Given the description of an element on the screen output the (x, y) to click on. 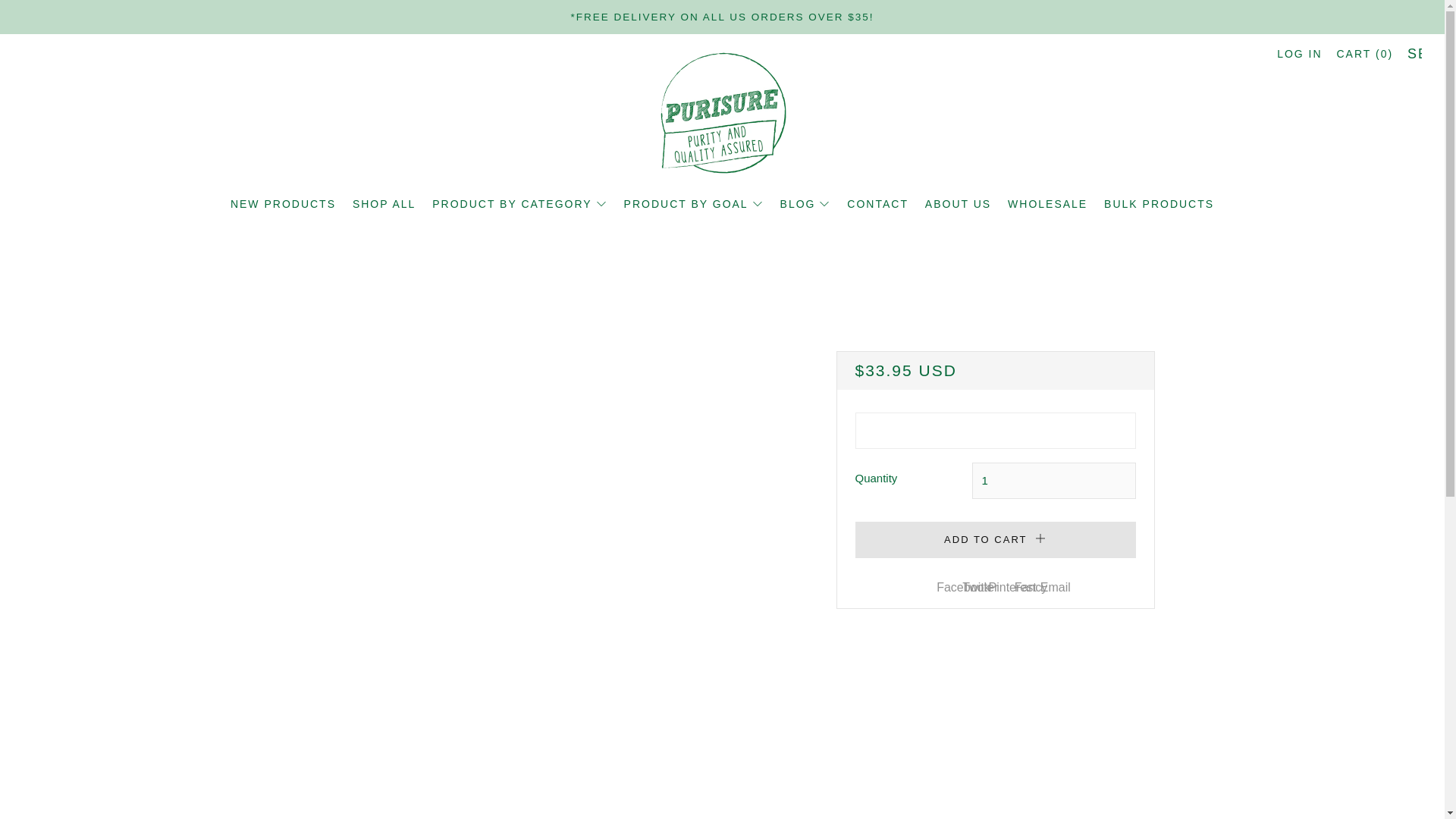
1 (1053, 480)
